Given the description of an element on the screen output the (x, y) to click on. 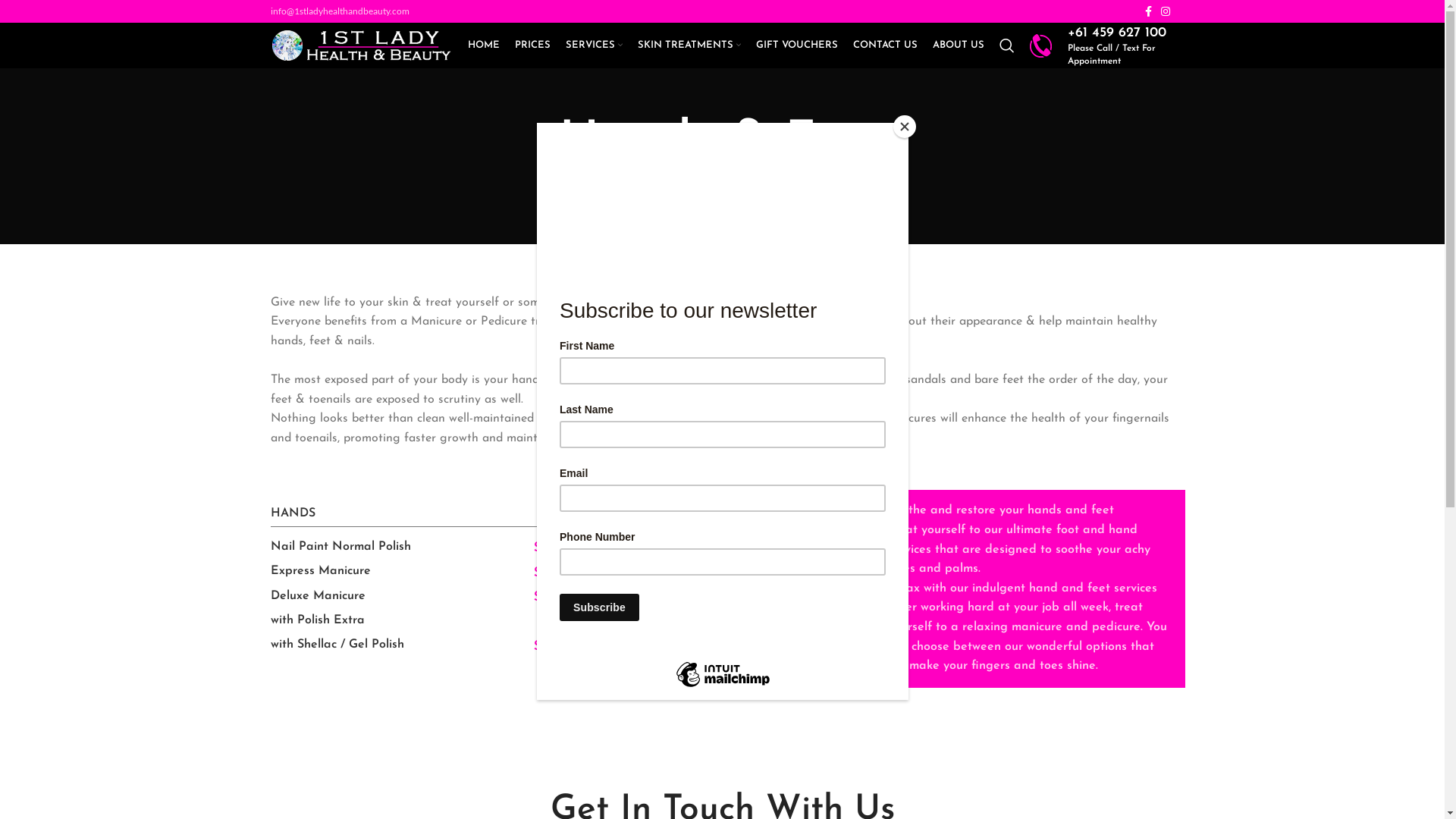
Search Element type: hover (1006, 45)
SKIN TREATMENTS Element type: text (688, 45)
ABOUT US Element type: text (958, 45)
HOME Element type: text (693, 189)
PRICES Element type: text (531, 45)
SERVICES Element type: text (593, 45)
CONTACT US Element type: text (884, 45)
HOME Element type: text (482, 45)
GIFT VOUCHERS Element type: text (796, 45)
phone Element type: hover (1040, 44)
